Given the description of an element on the screen output the (x, y) to click on. 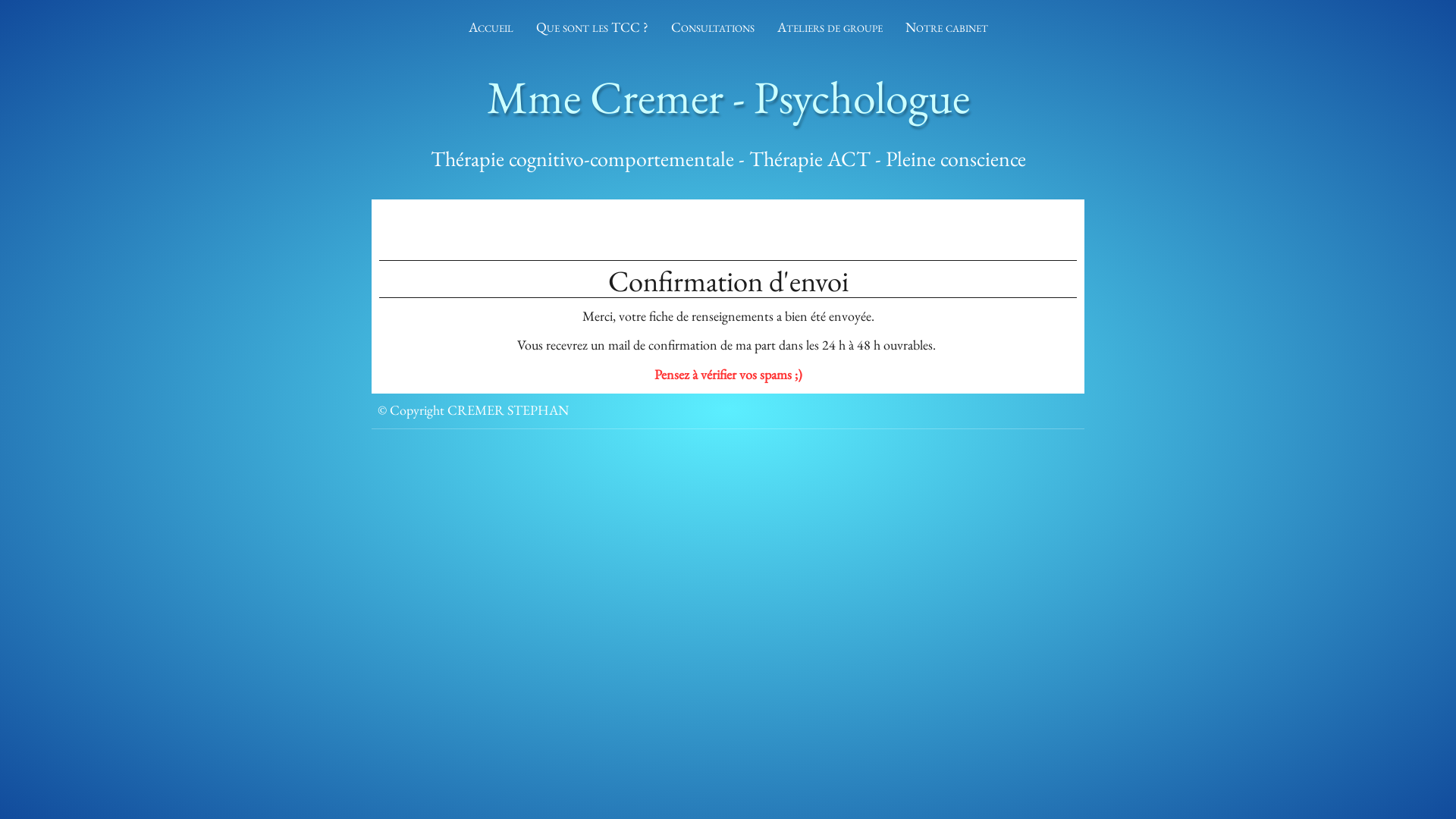
Consultations Element type: text (712, 27)
Que sont les TCC ? Element type: text (591, 27)
Accueil Element type: text (490, 27)
Notre cabinet Element type: text (945, 27)
Ateliers de groupe Element type: text (829, 27)
